Given the description of an element on the screen output the (x, y) to click on. 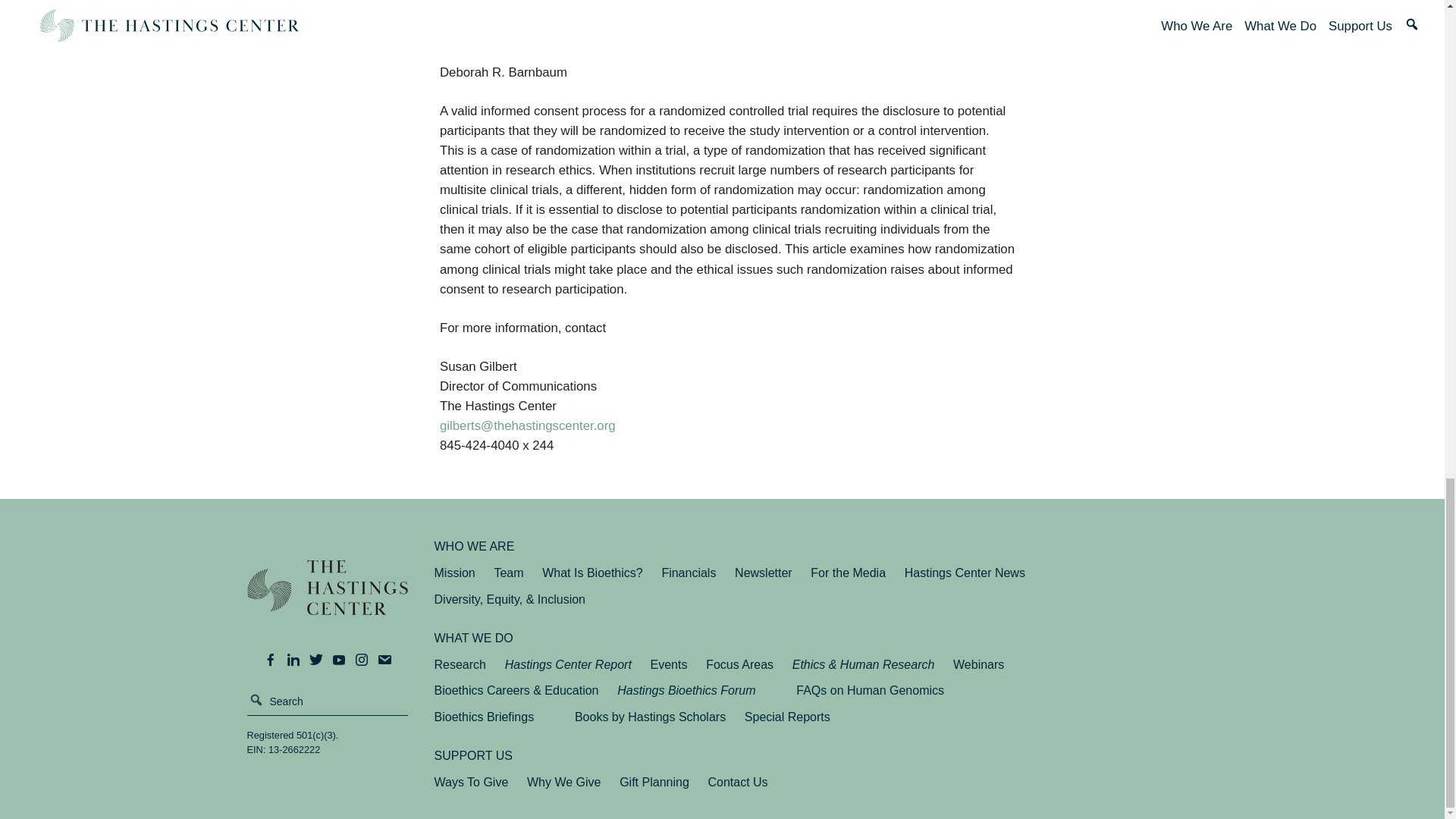
The Hastings Center (327, 598)
Randomization Among: The Other Randomization (579, 33)
Search for: (327, 701)
